Given the description of an element on the screen output the (x, y) to click on. 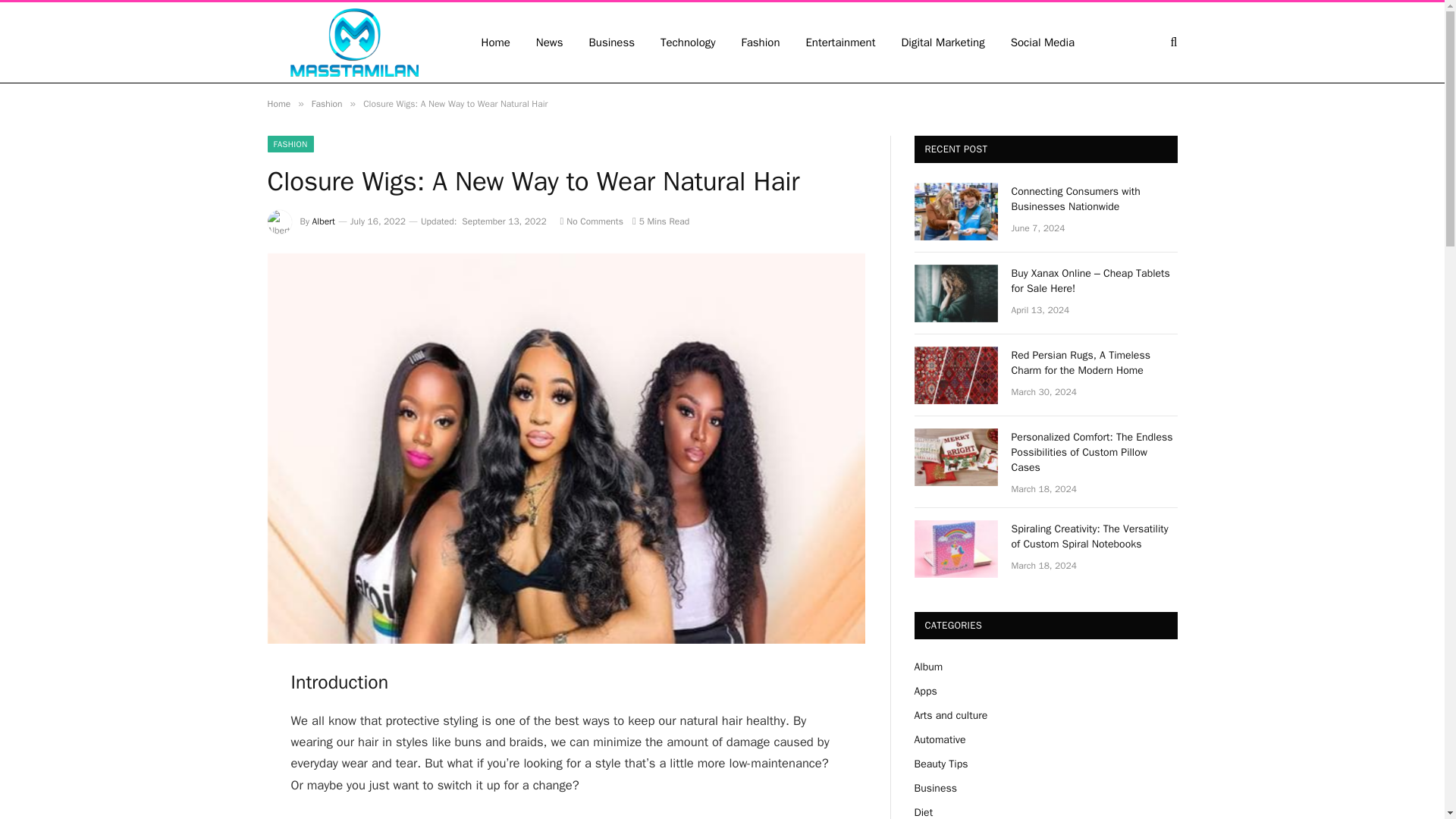
Entertainment (840, 42)
FASHION (289, 143)
No Comments (591, 221)
Posts by Albert (323, 221)
closure wigs (528, 818)
Home (277, 103)
Fashion (326, 103)
Albert (323, 221)
Technology (688, 42)
